Given the description of an element on the screen output the (x, y) to click on. 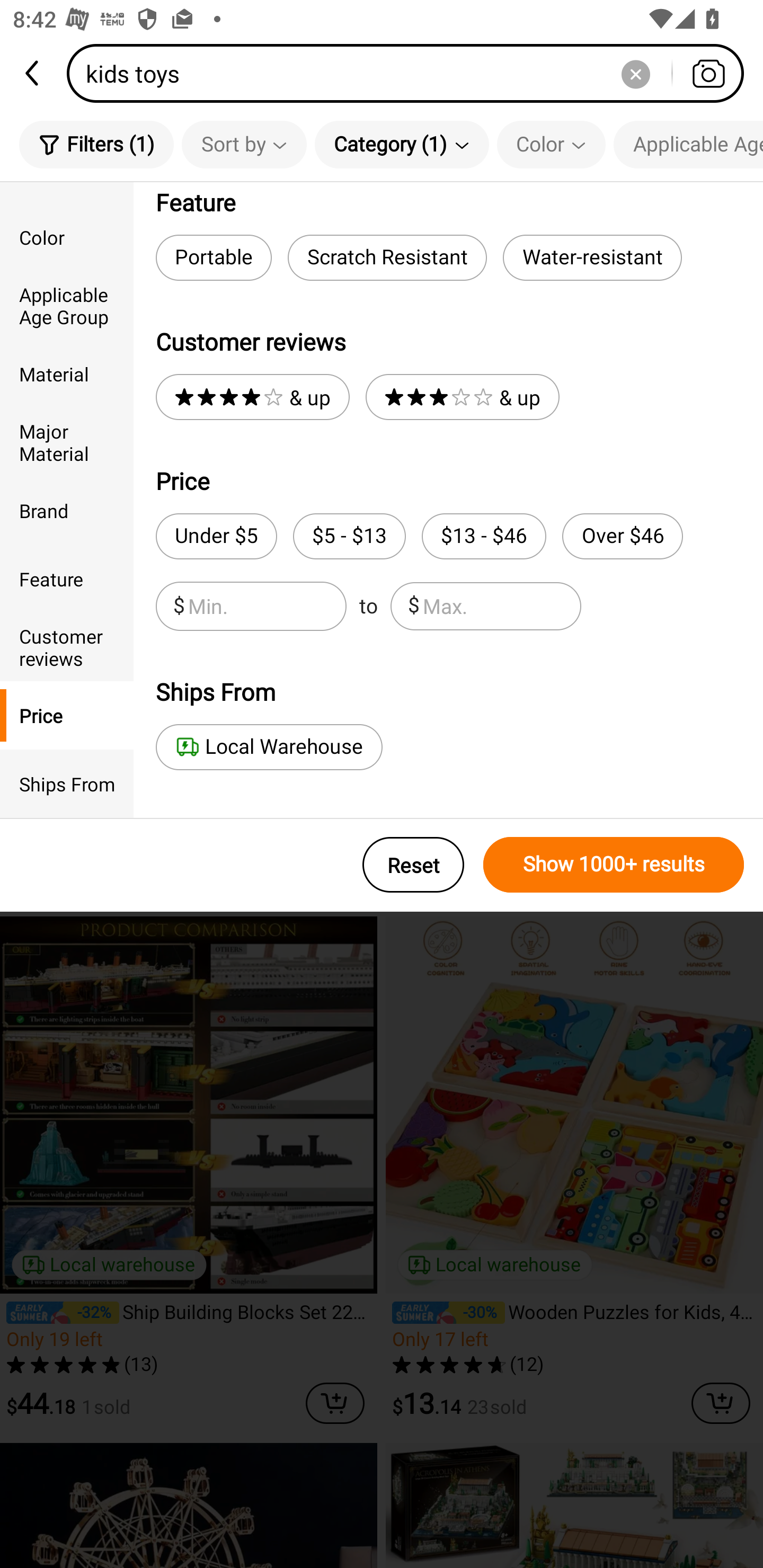
back (33, 72)
kids toys (411, 73)
Delete search history (635, 73)
Search by photo (708, 73)
Filters (1) (96, 143)
Sort by (243, 143)
Category (1) (401, 143)
Color (550, 143)
Applicable Age Group (688, 143)
Color (66, 236)
Portable (213, 257)
Scratch Resistant (386, 257)
Water-resistant (592, 257)
Applicable Age Group (66, 305)
Material (66, 373)
& up (252, 397)
& up (462, 397)
Major Material (66, 441)
Brand (66, 510)
Under $5 (215, 535)
$5 - $13 (348, 535)
$13 - $46 (483, 535)
Over $46 (622, 535)
Feature (66, 578)
$ Min. to $ Max. (368, 605)
Customer reviews (66, 646)
Price (66, 714)
Local Warehouse (268, 746)
Ships From (66, 783)
Reset (412, 864)
Show 1000+ results (612, 864)
